Given the description of an element on the screen output the (x, y) to click on. 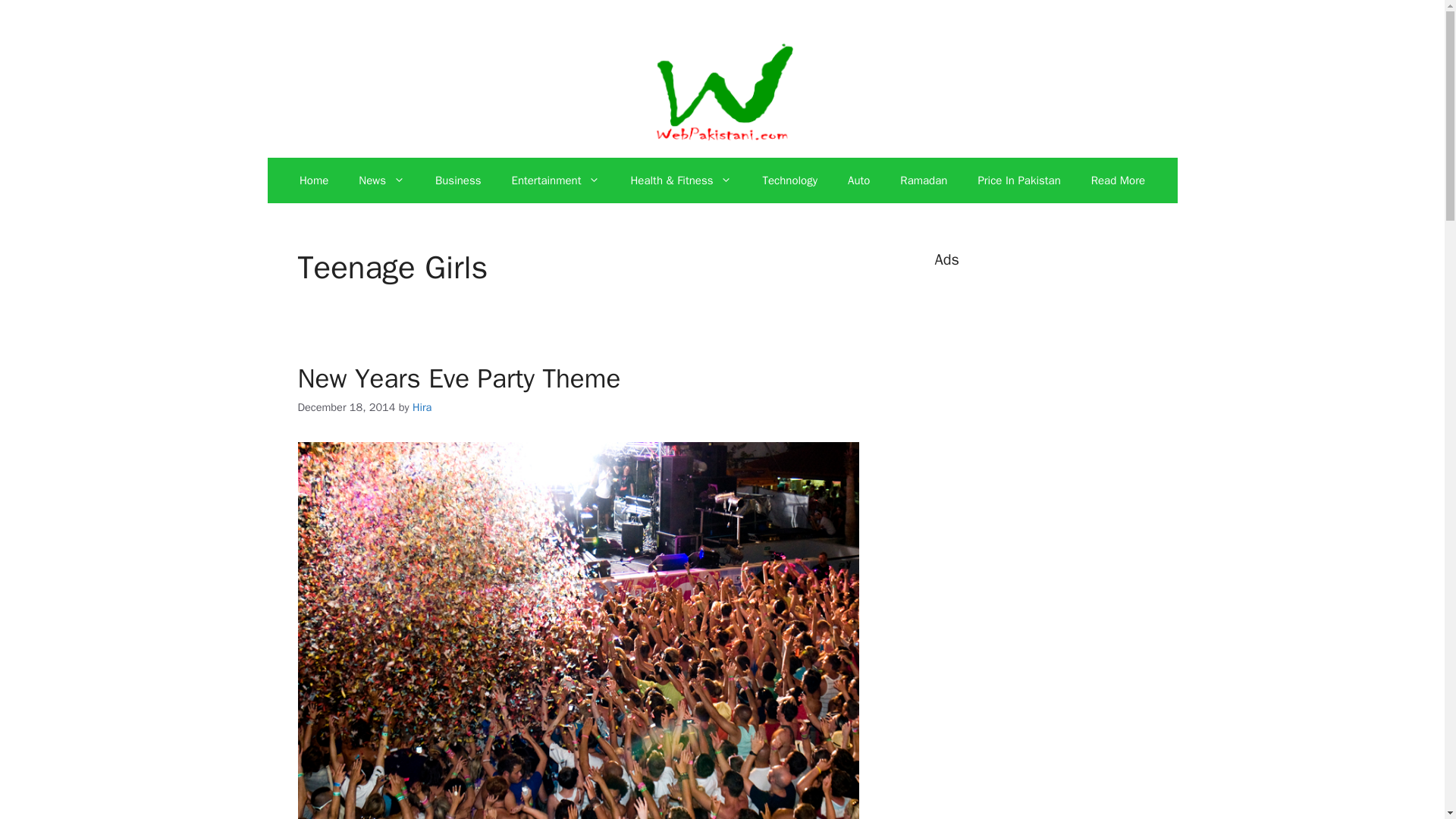
Advertisement (1047, 806)
Auto (858, 180)
Ramadan (923, 180)
Price In Pakistan (1018, 180)
Hira (421, 407)
News (381, 180)
Home (313, 180)
Read More (1117, 180)
Entertainment (555, 180)
Business (458, 180)
